Given the description of an element on the screen output the (x, y) to click on. 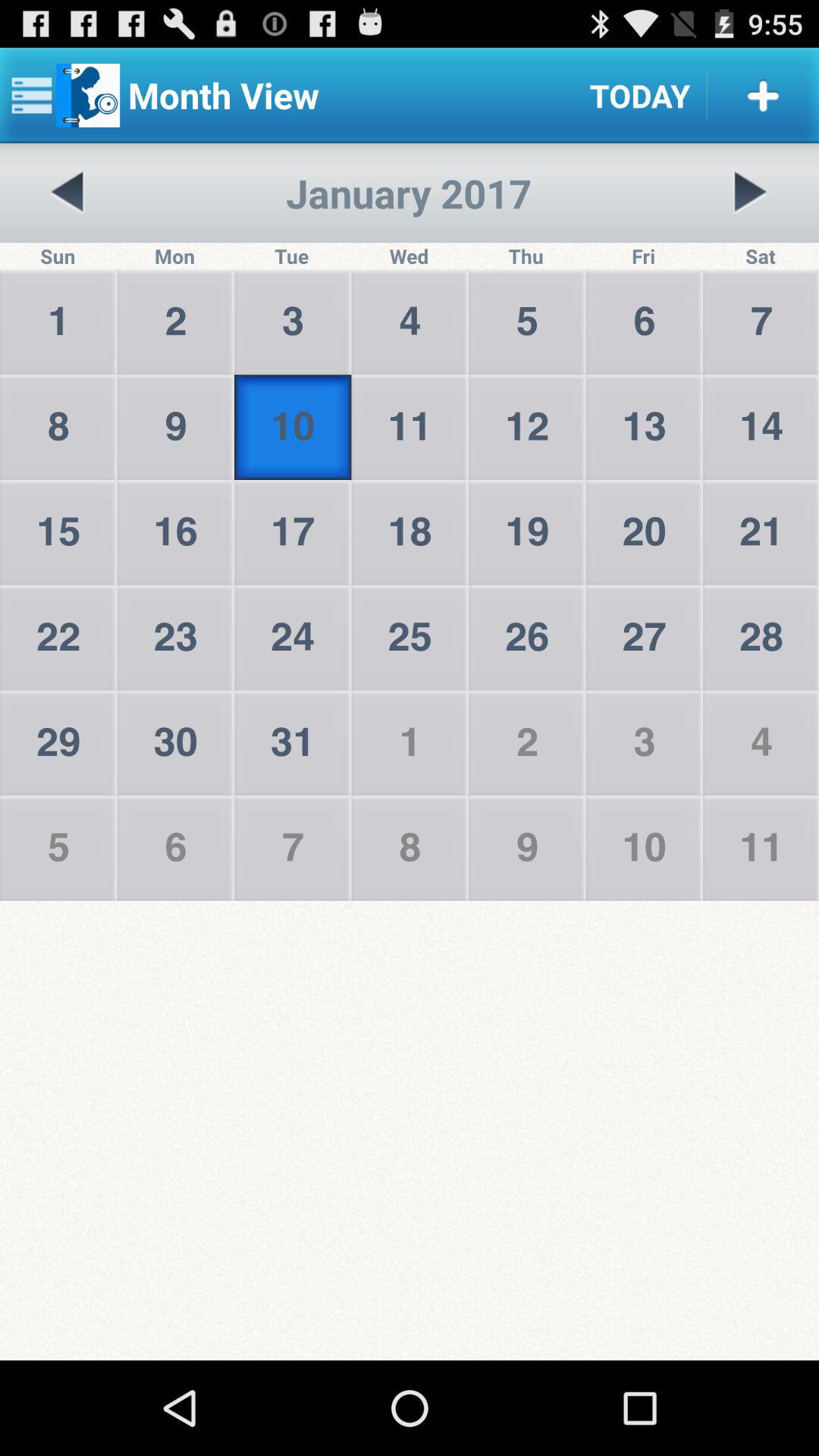
launch the icon next to the tue (67, 192)
